Given the description of an element on the screen output the (x, y) to click on. 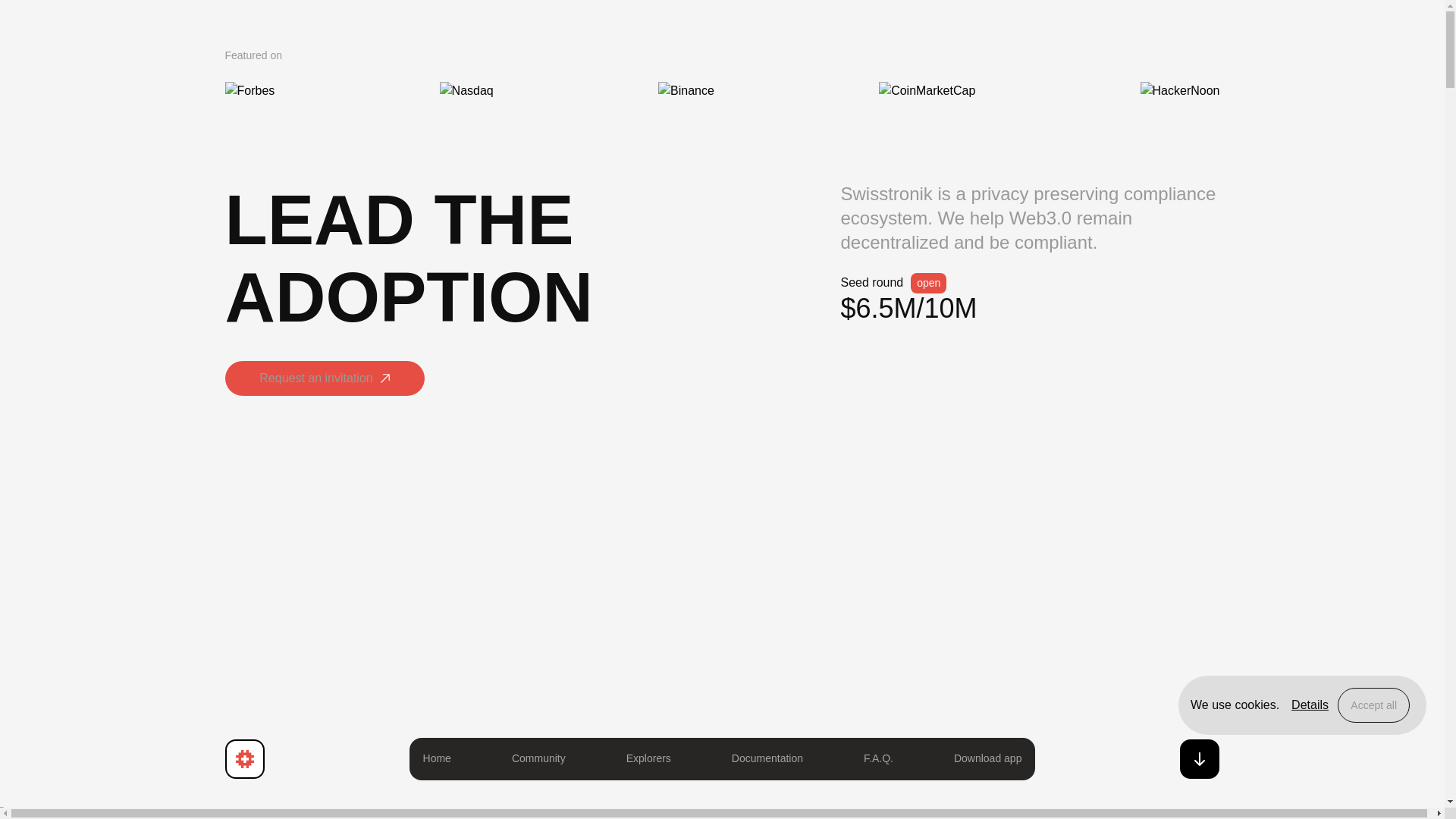
Request an invitation (323, 378)
